Given the description of an element on the screen output the (x, y) to click on. 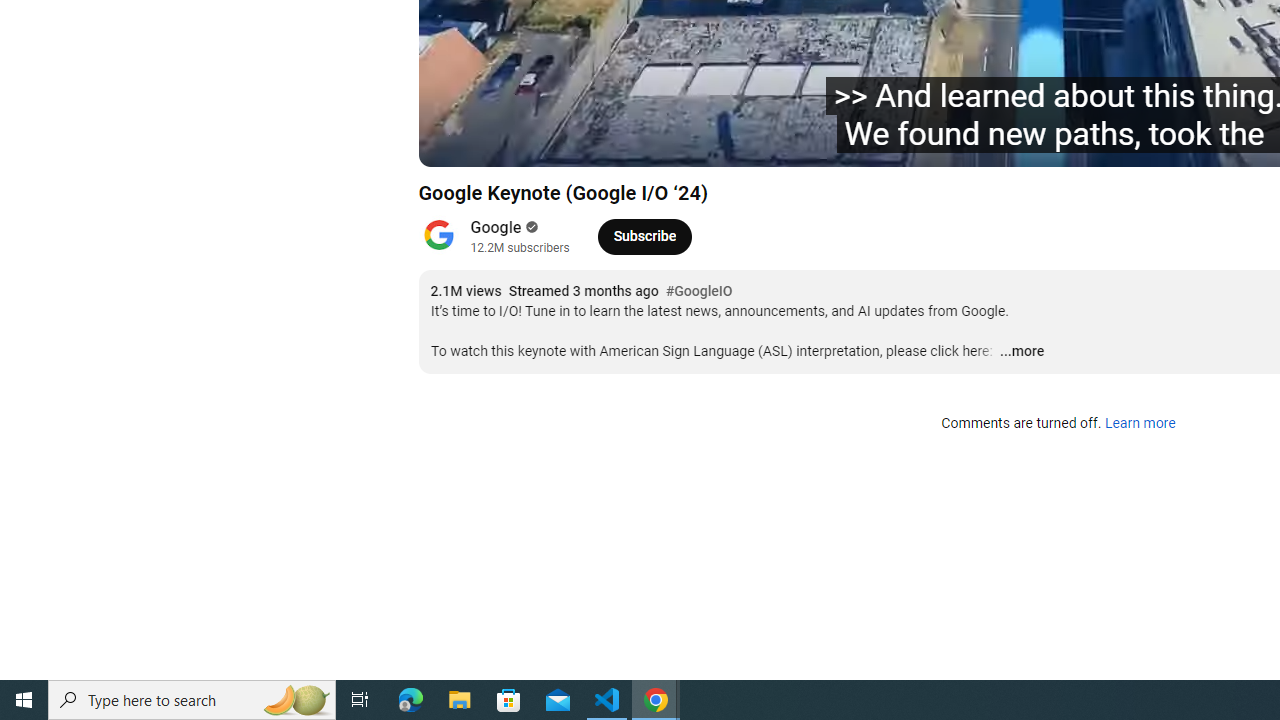
Previous (SHIFT+p) (456, 142)
Learn more (1139, 423)
#GoogleIO (699, 291)
Subscribe to Google. (644, 236)
...more (1021, 352)
Next (SHIFT+n) (546, 142)
Opening Film (763, 142)
Play (k) (502, 142)
Mute (m) (594, 142)
